Given the description of an element on the screen output the (x, y) to click on. 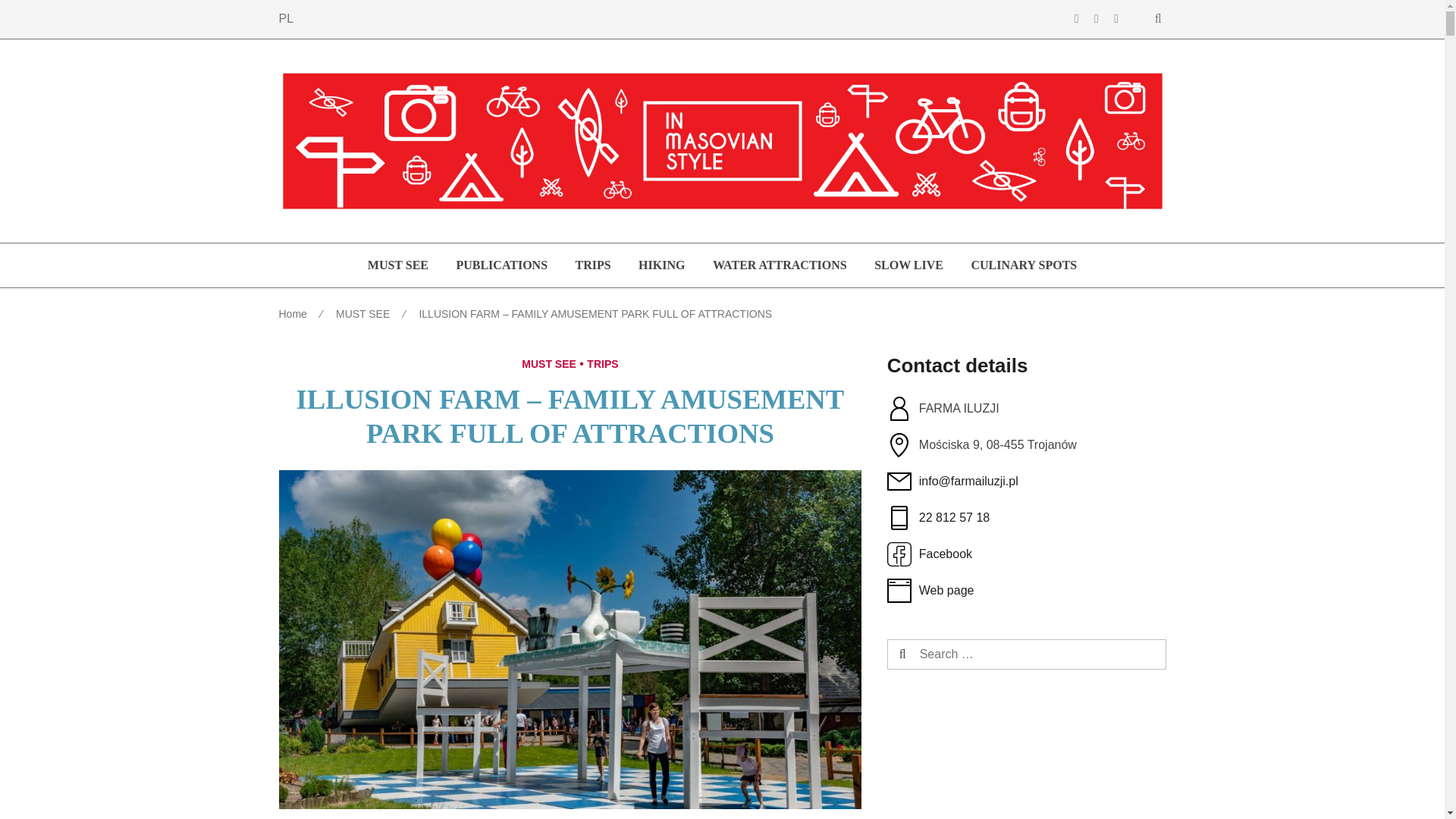
TRIPS (601, 364)
Home (293, 313)
TRIPS (593, 265)
YouTube video player (1026, 766)
MUST SEE (548, 364)
CULINARY SPOTS (1023, 265)
HIKING (661, 265)
SLOW LIVE (908, 265)
Search (929, 654)
